Given the description of an element on the screen output the (x, y) to click on. 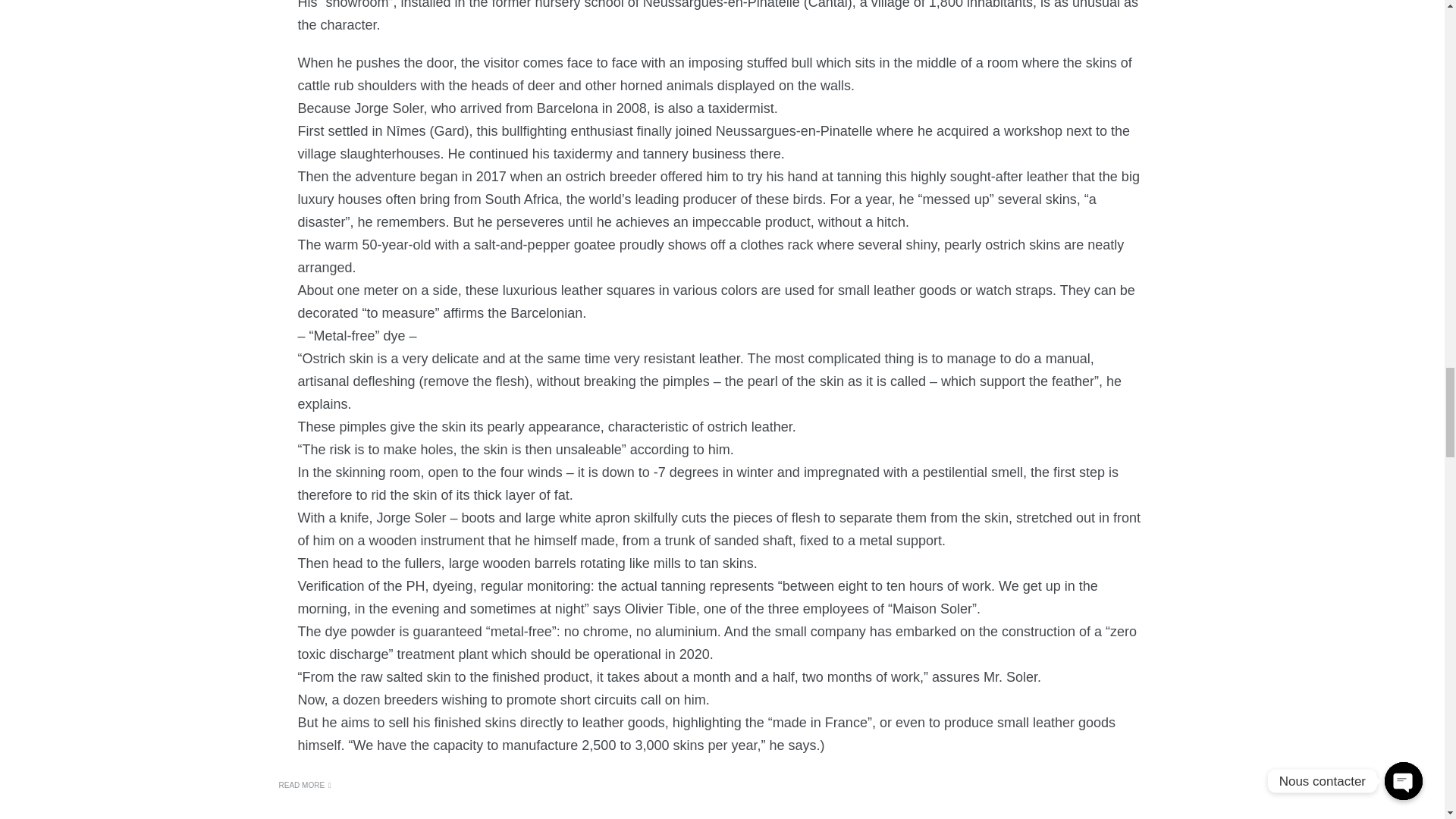
READ MORE (305, 785)
